Given the description of an element on the screen output the (x, y) to click on. 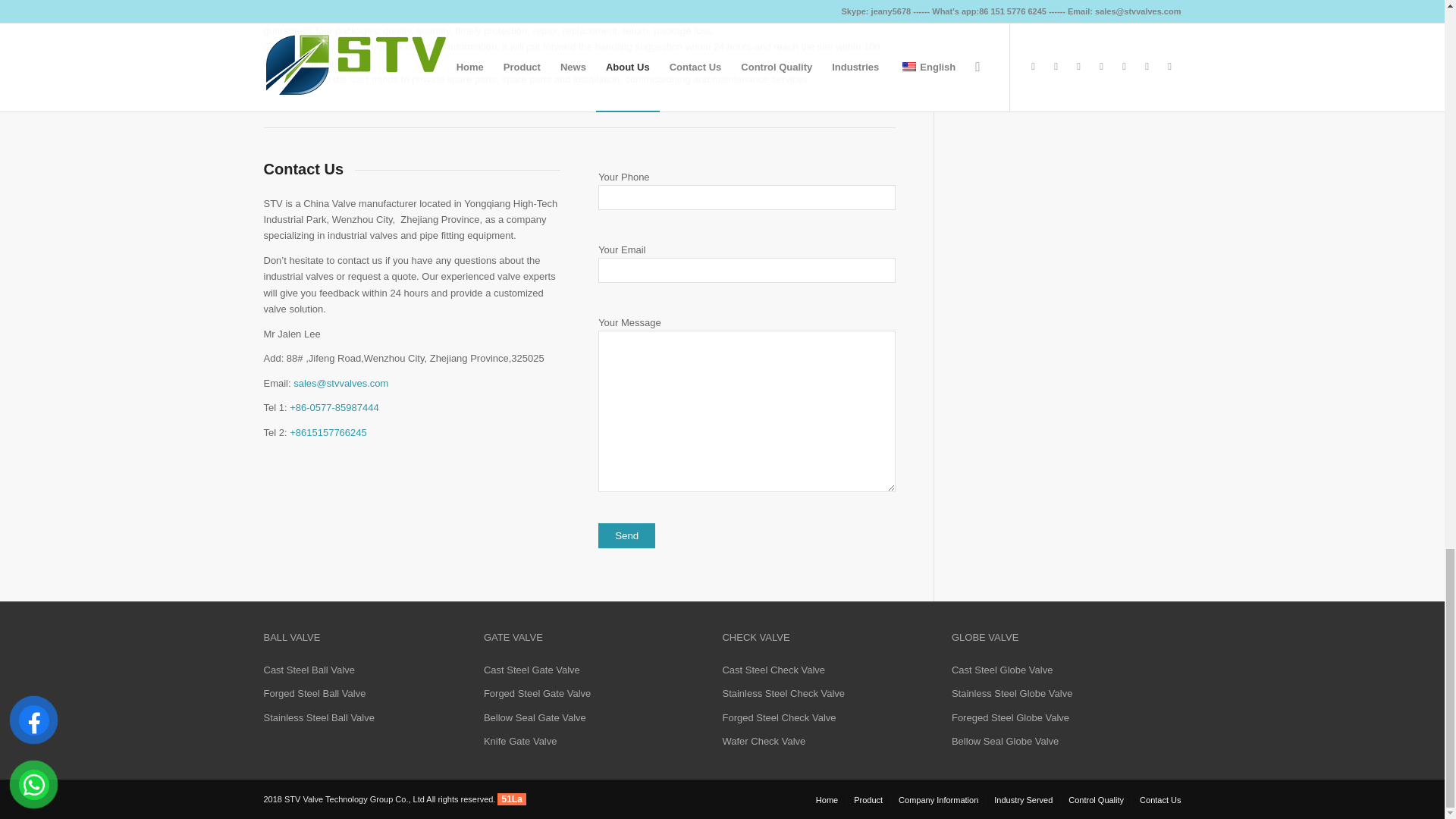
Send (626, 535)
